Given the description of an element on the screen output the (x, y) to click on. 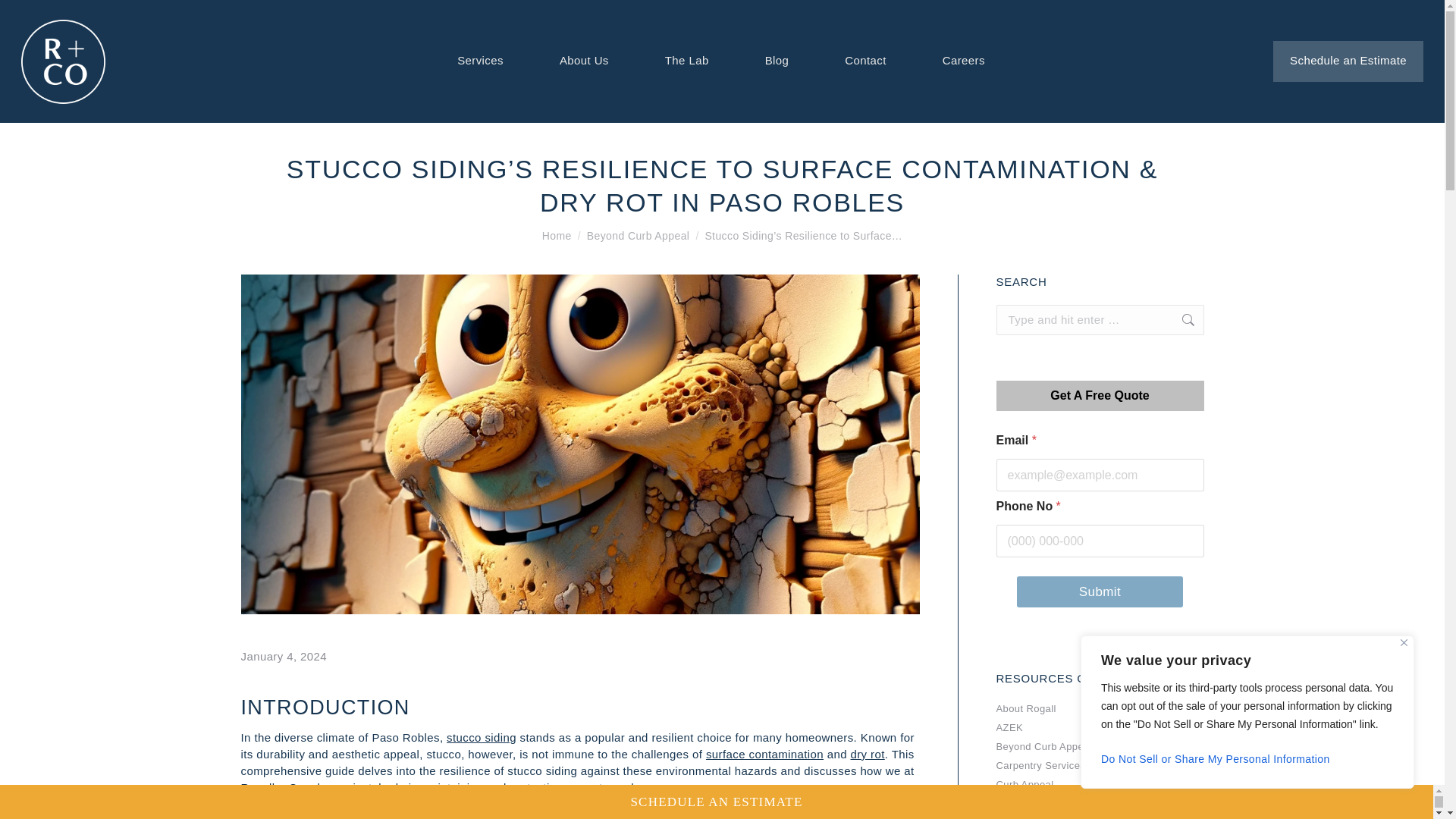
Go! (1179, 319)
Go! (1179, 319)
Schedule an Estimate (1347, 60)
Do Not Sell or Share My Personal Information (1246, 759)
